Given the description of an element on the screen output the (x, y) to click on. 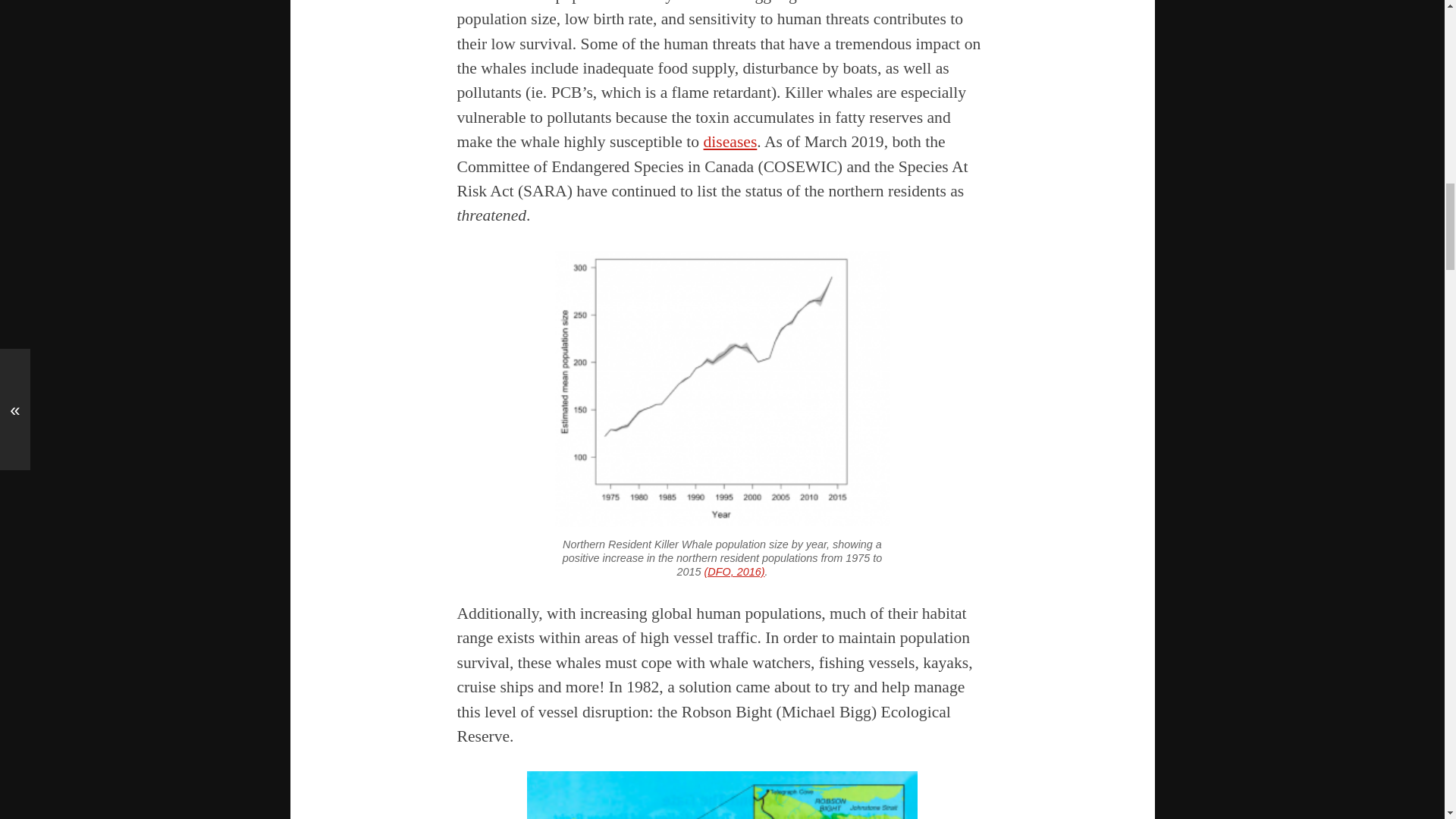
diseases (730, 141)
